Given the description of an element on the screen output the (x, y) to click on. 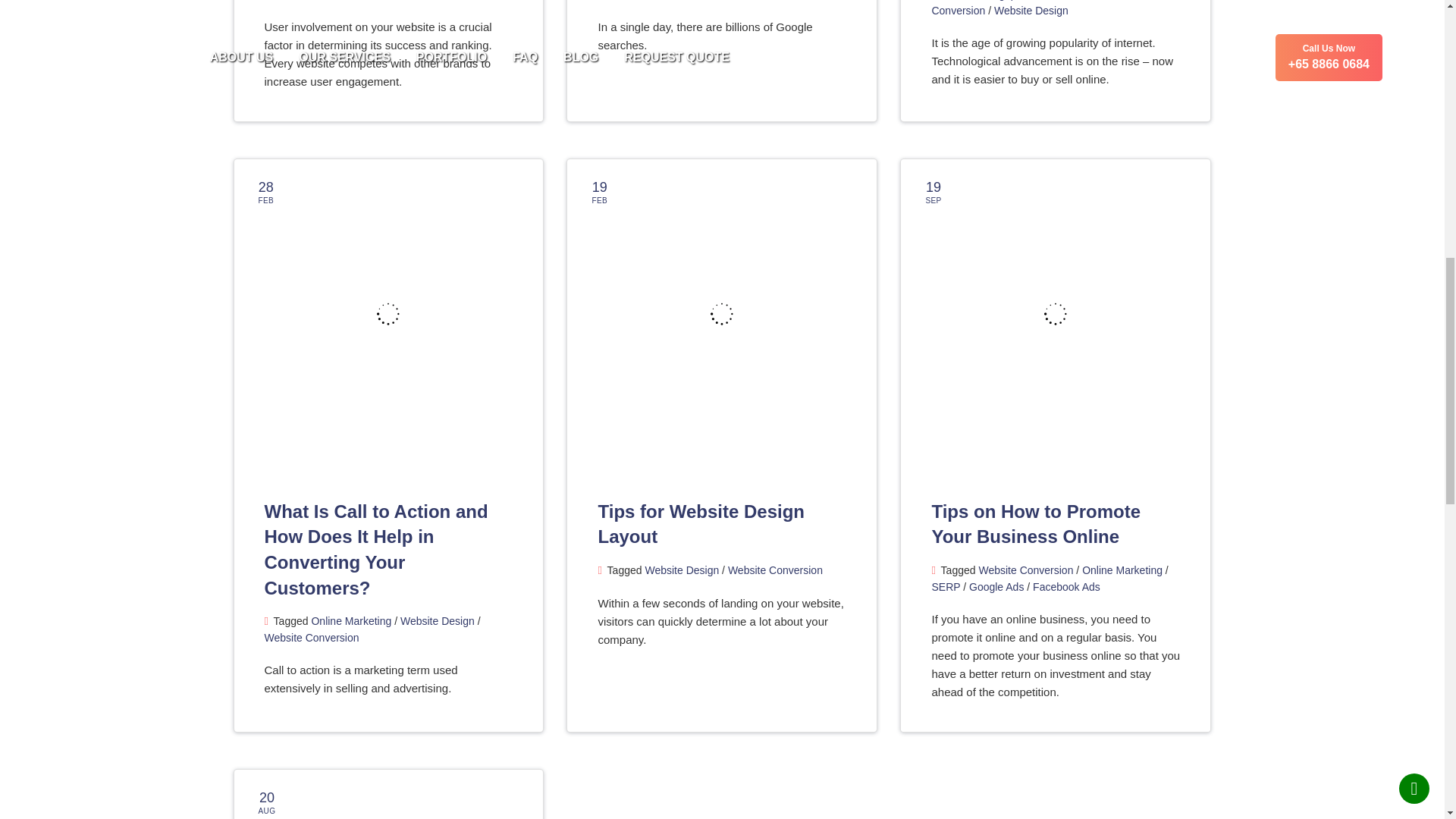
Online Marketing (351, 621)
Website Design (1031, 10)
Website Design (437, 621)
Website Conversion (310, 637)
Website Conversion (1027, 8)
Tips for Website Design Layout (700, 524)
Website Design (682, 570)
